Given the description of an element on the screen output the (x, y) to click on. 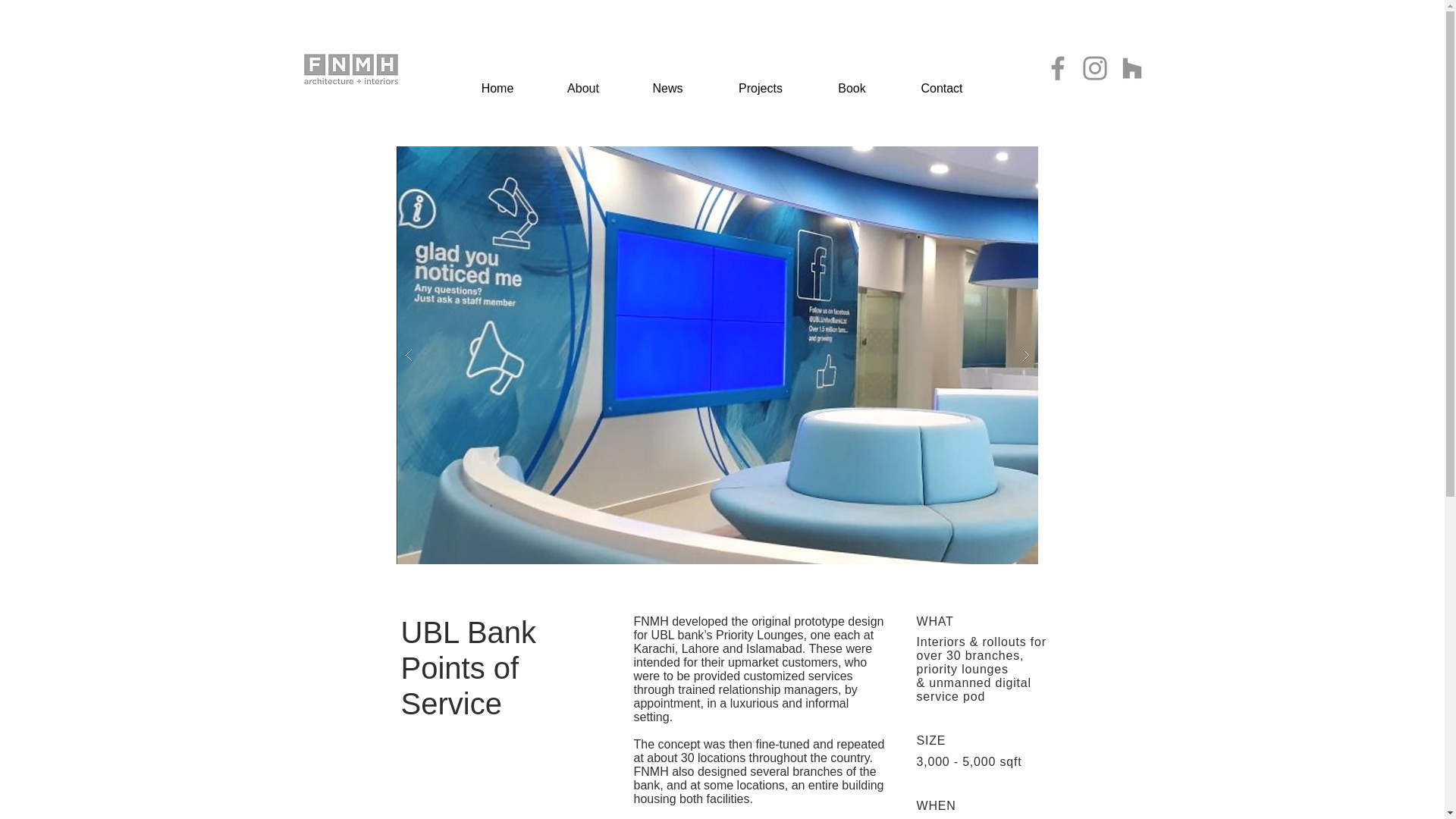
Contact (941, 81)
News (668, 81)
Book (850, 81)
About (583, 81)
Home (497, 81)
